Given the description of an element on the screen output the (x, y) to click on. 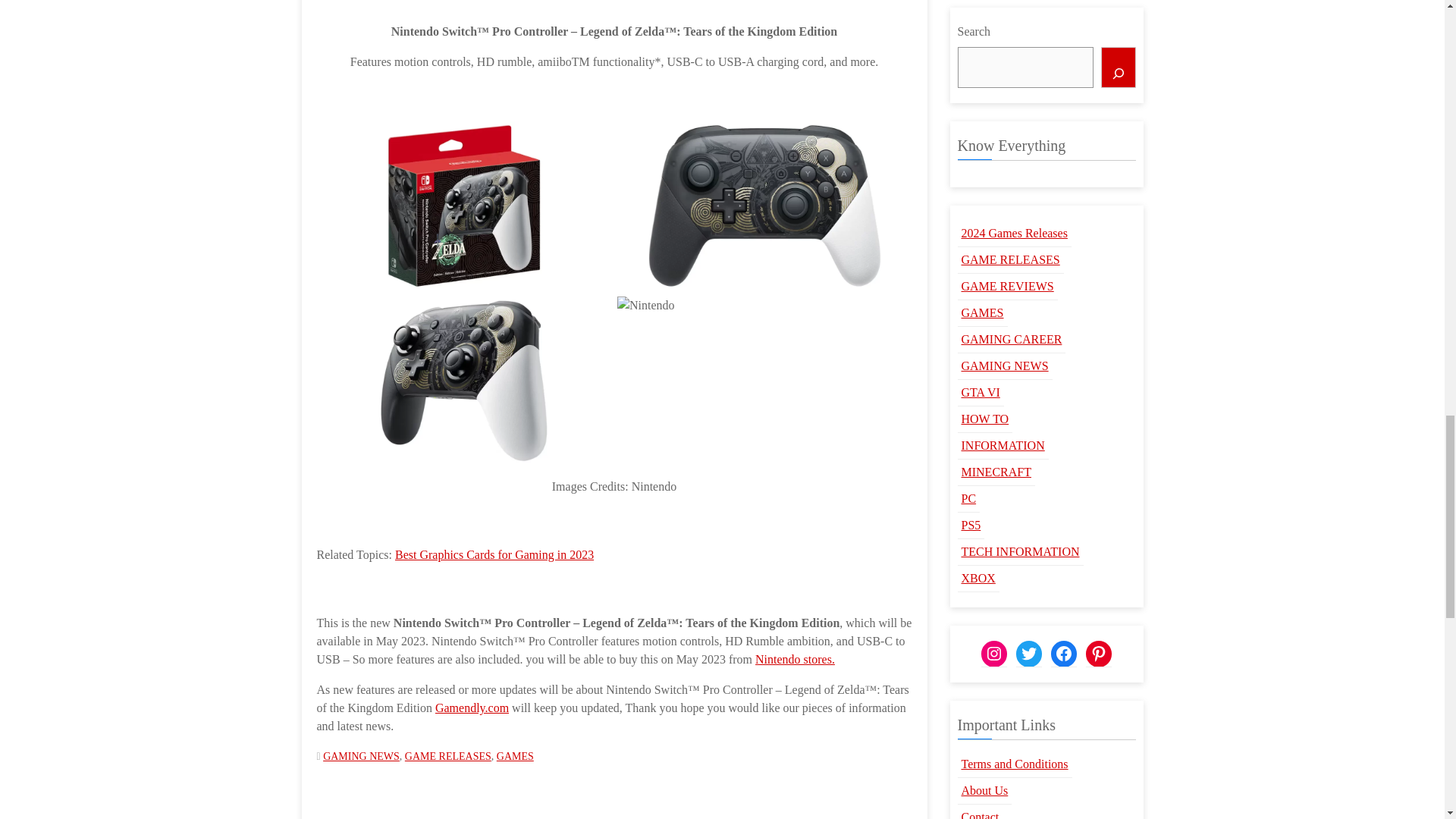
GAMES (515, 756)
Gamendly.com (471, 707)
Best Graphics Cards for Gaming in 2023 (494, 554)
GAME RELEASES (448, 756)
GAMING NEWS (360, 756)
Nintendo stores. (794, 658)
